Given the description of an element on the screen output the (x, y) to click on. 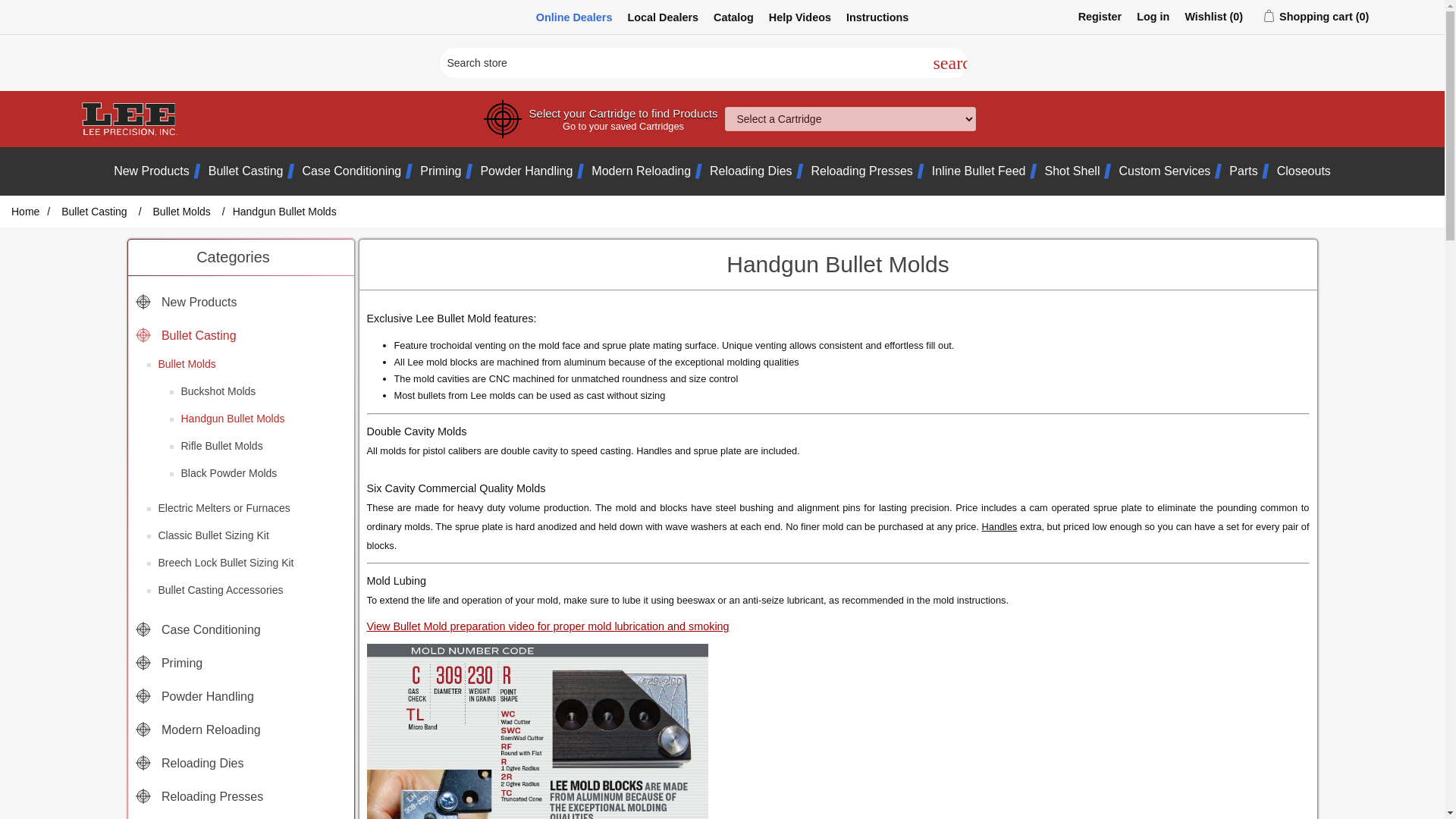
Handgun Bullet Molds (231, 418)
Priming (440, 171)
Bullet Casting (185, 333)
Powder Handling (526, 171)
Reloading Presses (861, 171)
Shot Shell (1072, 171)
Catalog (733, 16)
Online Dealers (573, 16)
Home (25, 211)
Register (1100, 17)
Reloading Dies (751, 171)
Modern Reloading (640, 171)
Parts (1242, 171)
Closeouts (1303, 171)
New Products (151, 171)
